Given the description of an element on the screen output the (x, y) to click on. 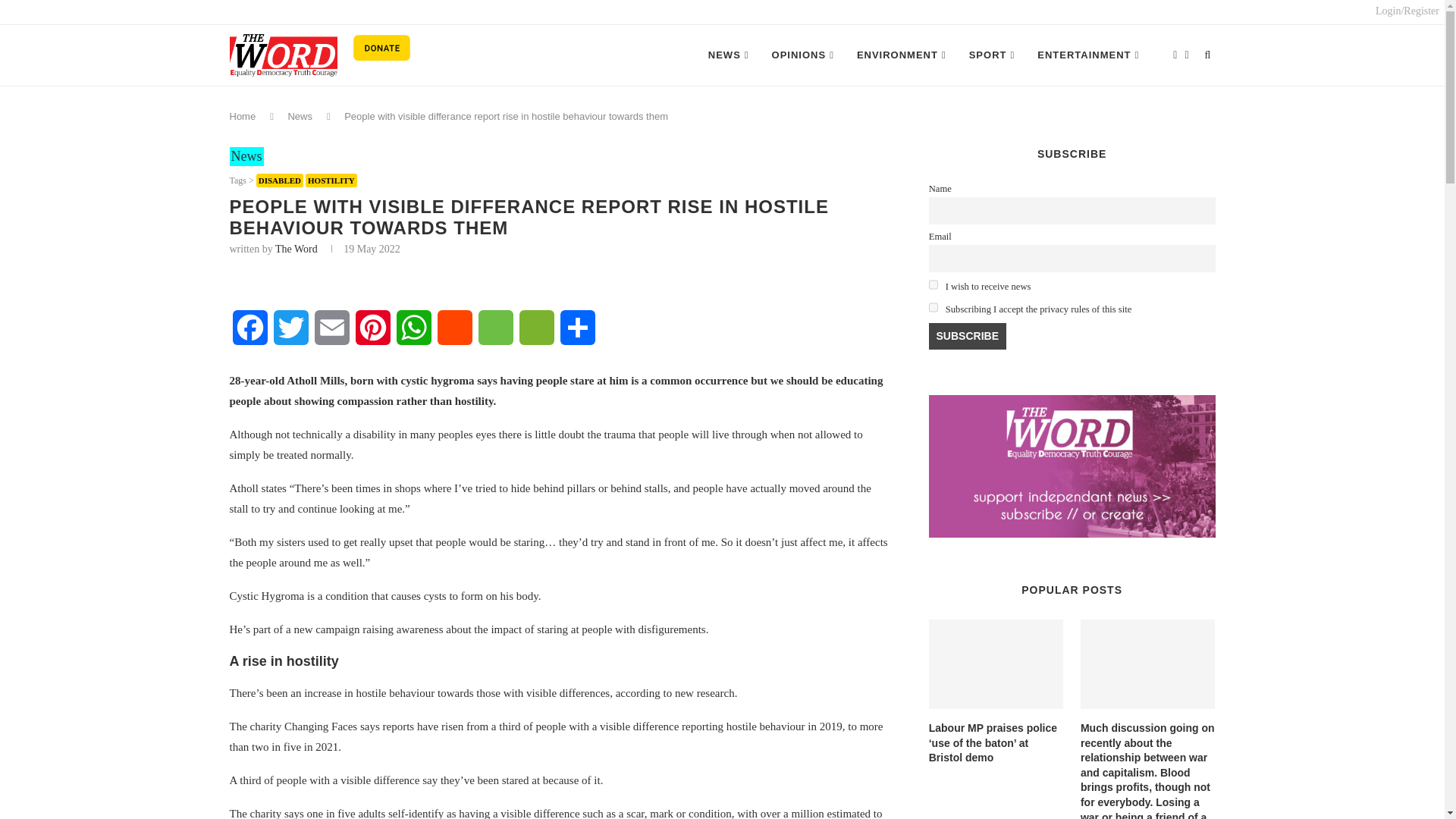
2 (933, 284)
Subscribe (967, 336)
on (933, 307)
